Given the description of an element on the screen output the (x, y) to click on. 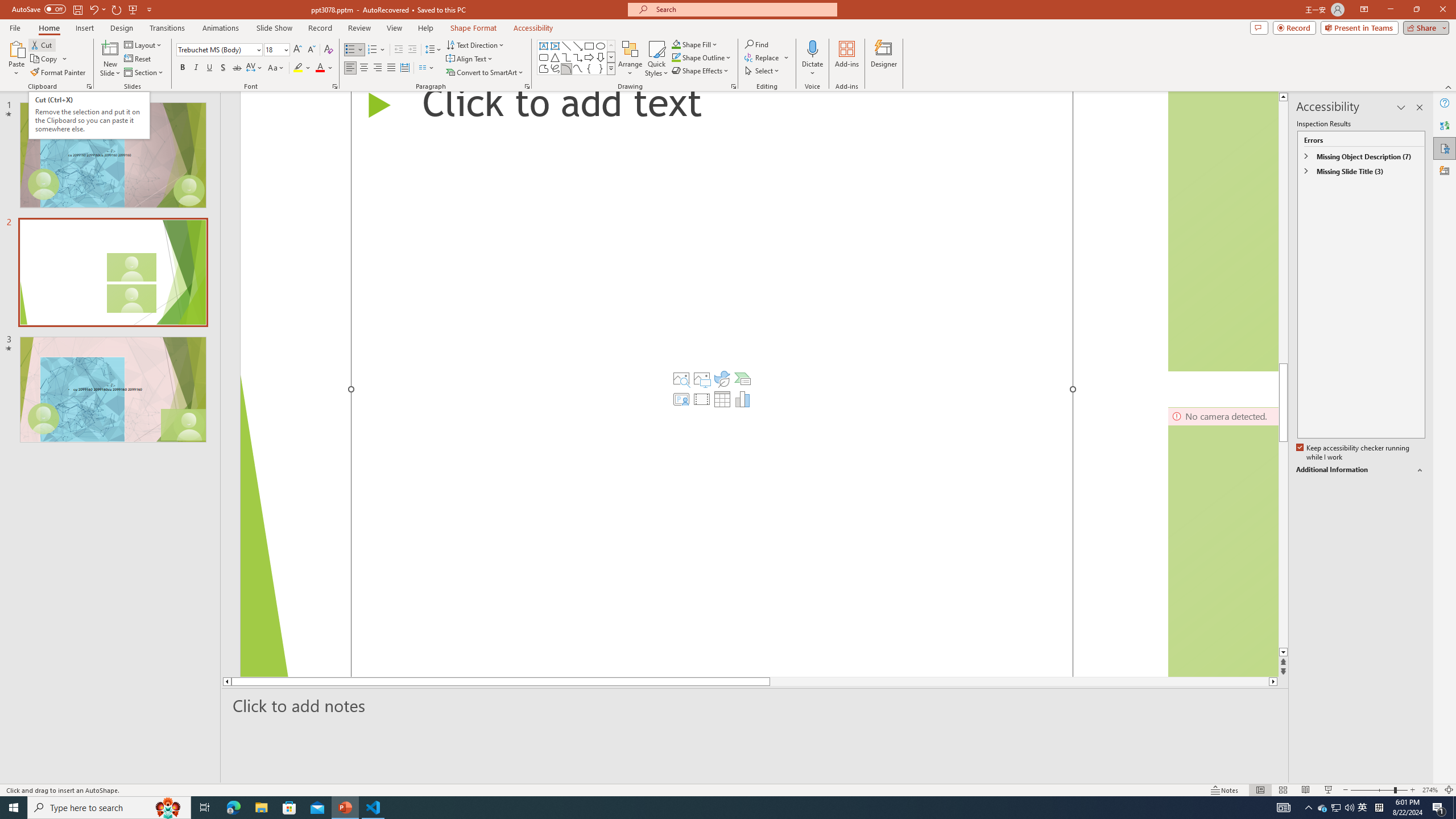
Insert a SmartArt Graphic (742, 378)
Shape Outline Green, Accent 1 (675, 56)
